Given the description of an element on the screen output the (x, y) to click on. 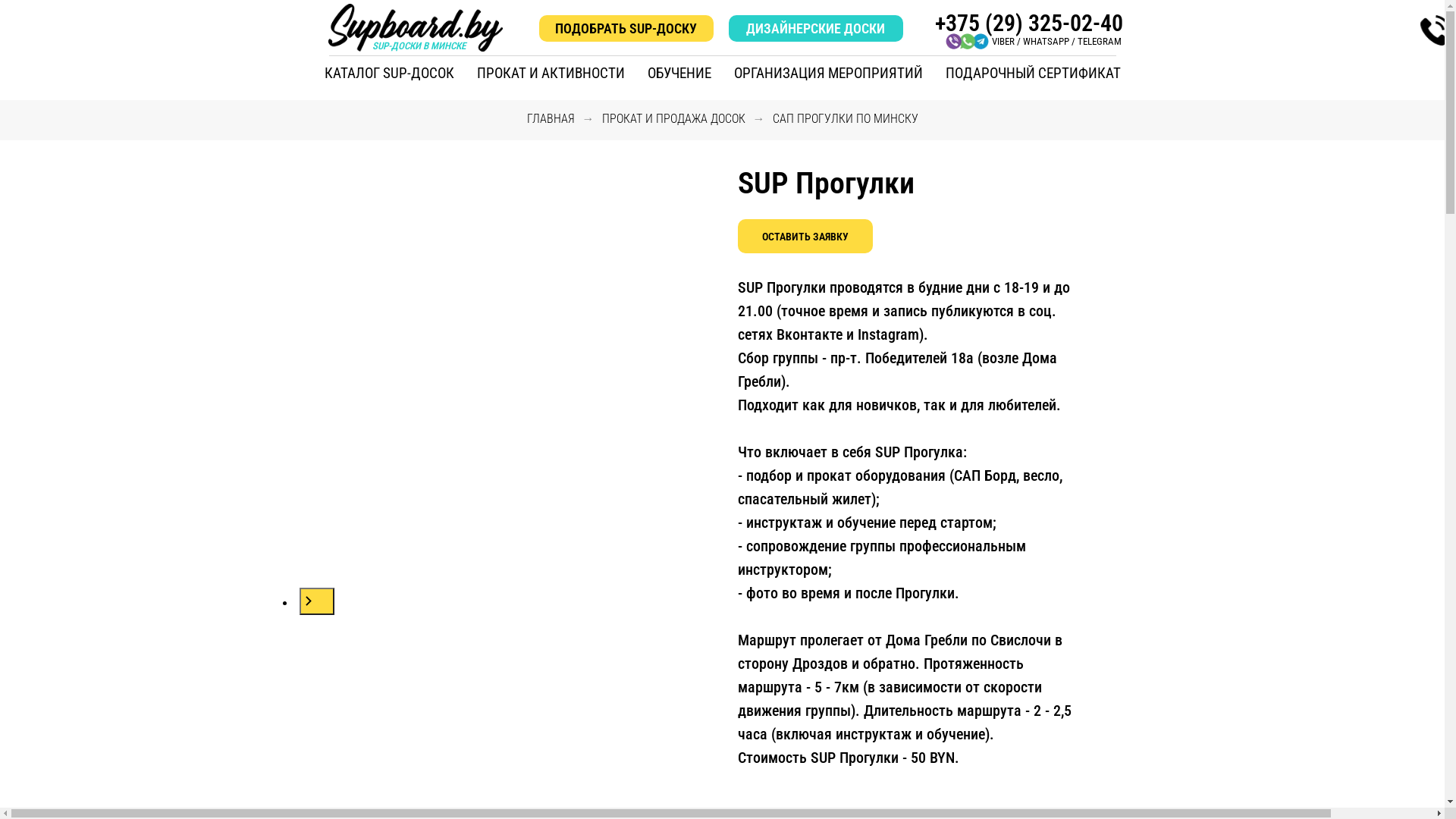
+375 (29) 325-02-40 Element type: text (1028, 22)
